Given the description of an element on the screen output the (x, y) to click on. 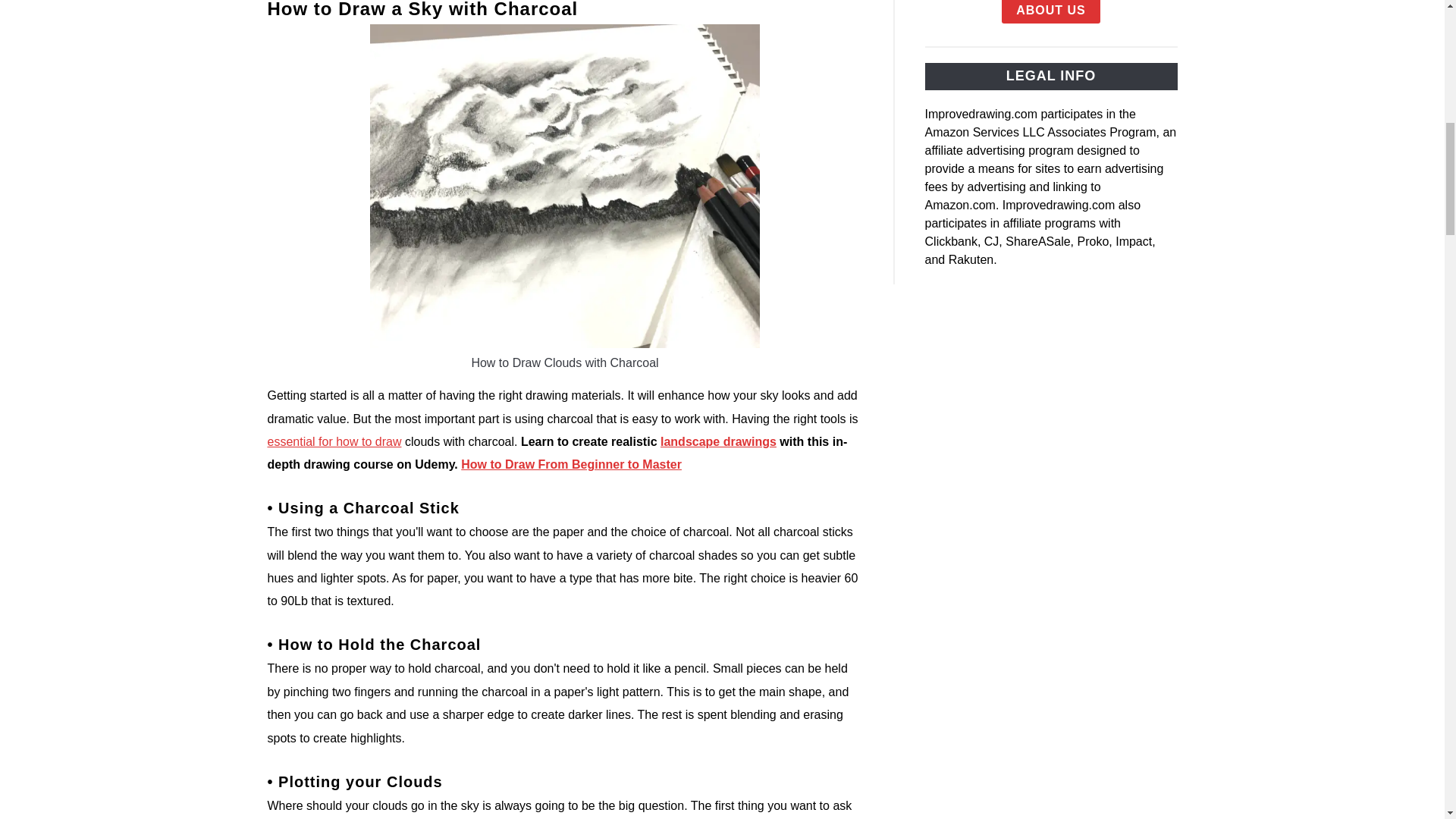
essential for how to draw (333, 440)
landscape drawings (718, 440)
How to Draw From Beginner to Master (571, 463)
How To Practice Drawing Anatomy: The Essential Guide (333, 440)
